Given the description of an element on the screen output the (x, y) to click on. 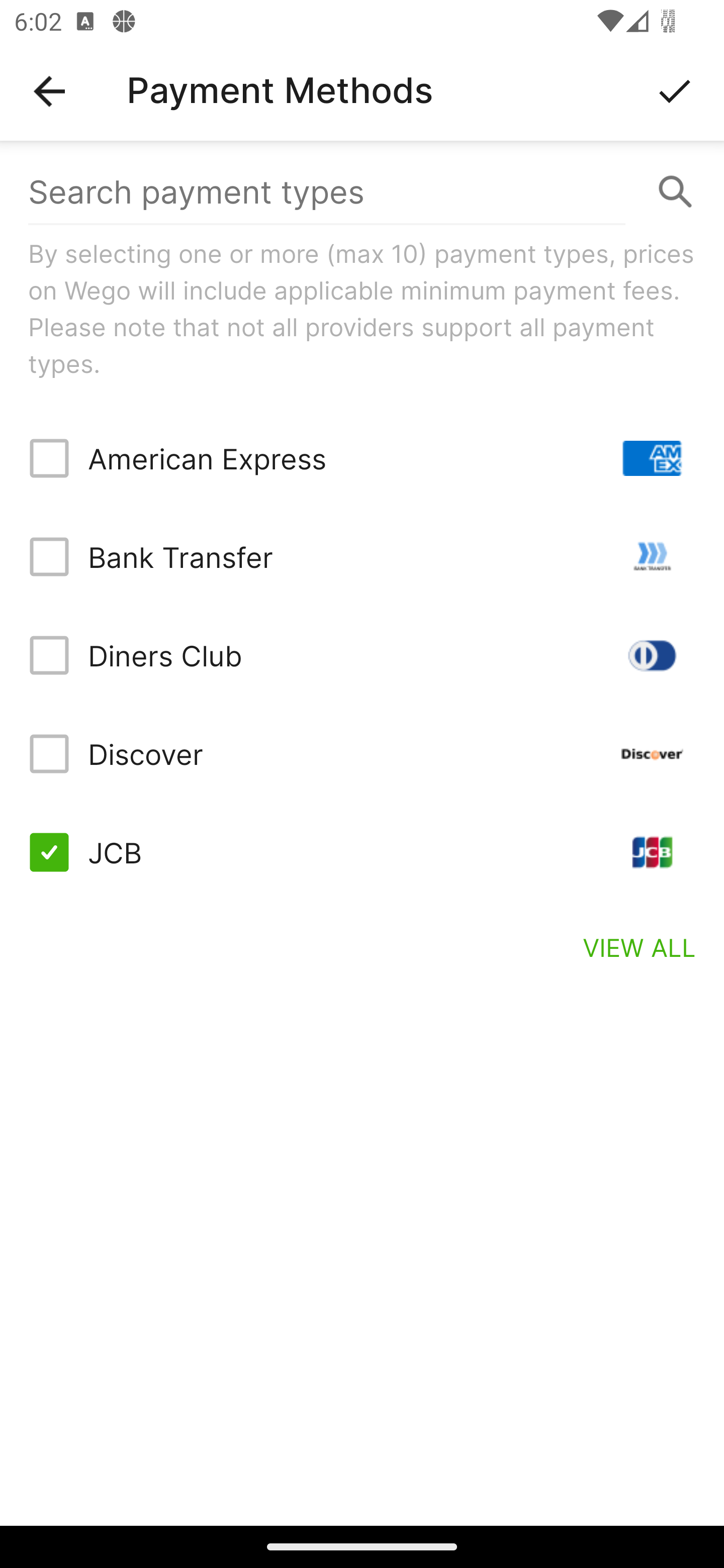
Search payment types  (361, 191)
American Express (362, 458)
Bank Transfer (362, 557)
Diners Club (362, 655)
Discover (362, 753)
JCB (362, 851)
VIEW ALL (639, 946)
